Given the description of an element on the screen output the (x, y) to click on. 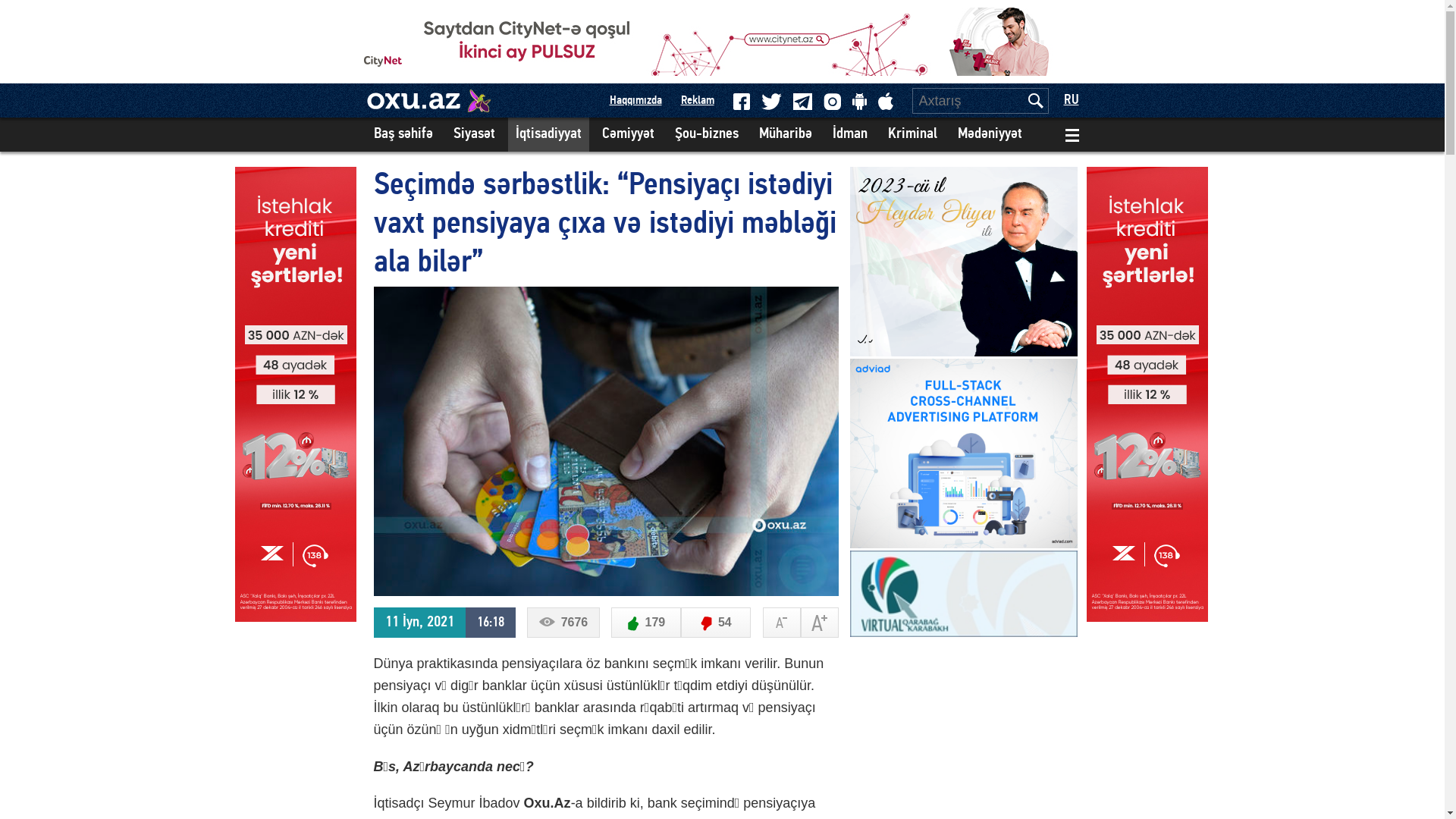
Axtar Element type: text (1035, 100)
Instagram Element type: text (831, 100)
Facebook Element type: text (740, 100)
Telegram Element type: text (802, 100)
iOS App Element type: text (885, 100)
RU Element type: text (1070, 100)
Twitter Element type: text (771, 100)
Axtar Element type: hover (1035, 100)
Kriminal Element type: text (911, 134)
Android App Element type: text (859, 100)
oxu.az Element type: text (412, 100)
Reklam Element type: text (697, 100)
